Given the description of an element on the screen output the (x, y) to click on. 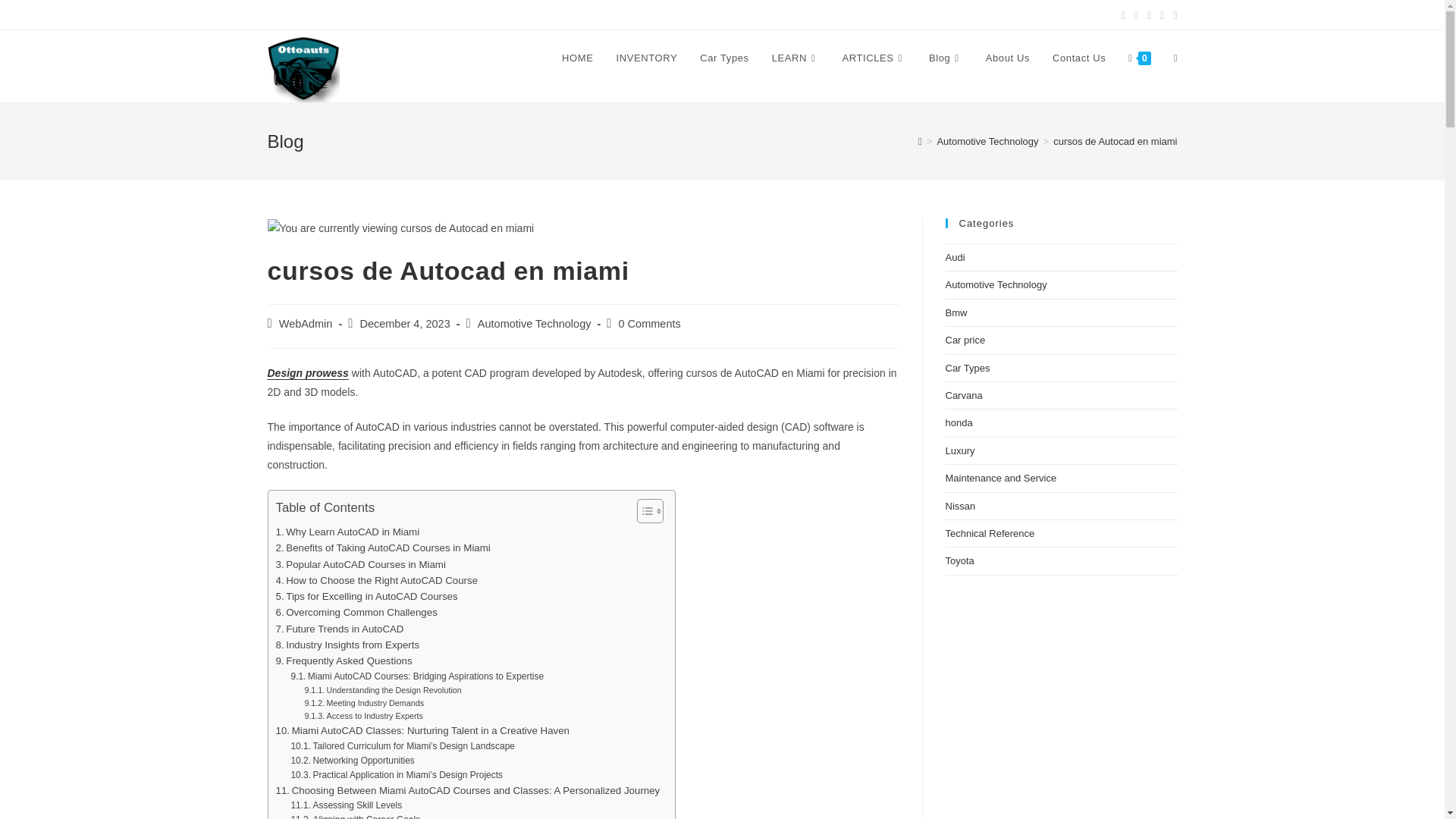
Industry Insights from Experts (348, 644)
Why Learn AutoCAD in Miami (348, 531)
Future Trends in AutoCAD (340, 628)
Frequently Asked Questions (344, 660)
Car Types (724, 58)
ARTICLES (873, 58)
Benefits of Taking AutoCAD Courses in Miami (383, 547)
Overcoming Common Challenges (357, 611)
Blog (945, 58)
Understanding the Design Revolution (382, 689)
LEARN (795, 58)
INVENTORY (646, 58)
How to Choose the Right AutoCAD Course (377, 580)
Miami AutoCAD Courses: Bridging Aspirations to Expertise (416, 676)
Popular AutoCAD Courses in Miami (360, 564)
